Given the description of an element on the screen output the (x, y) to click on. 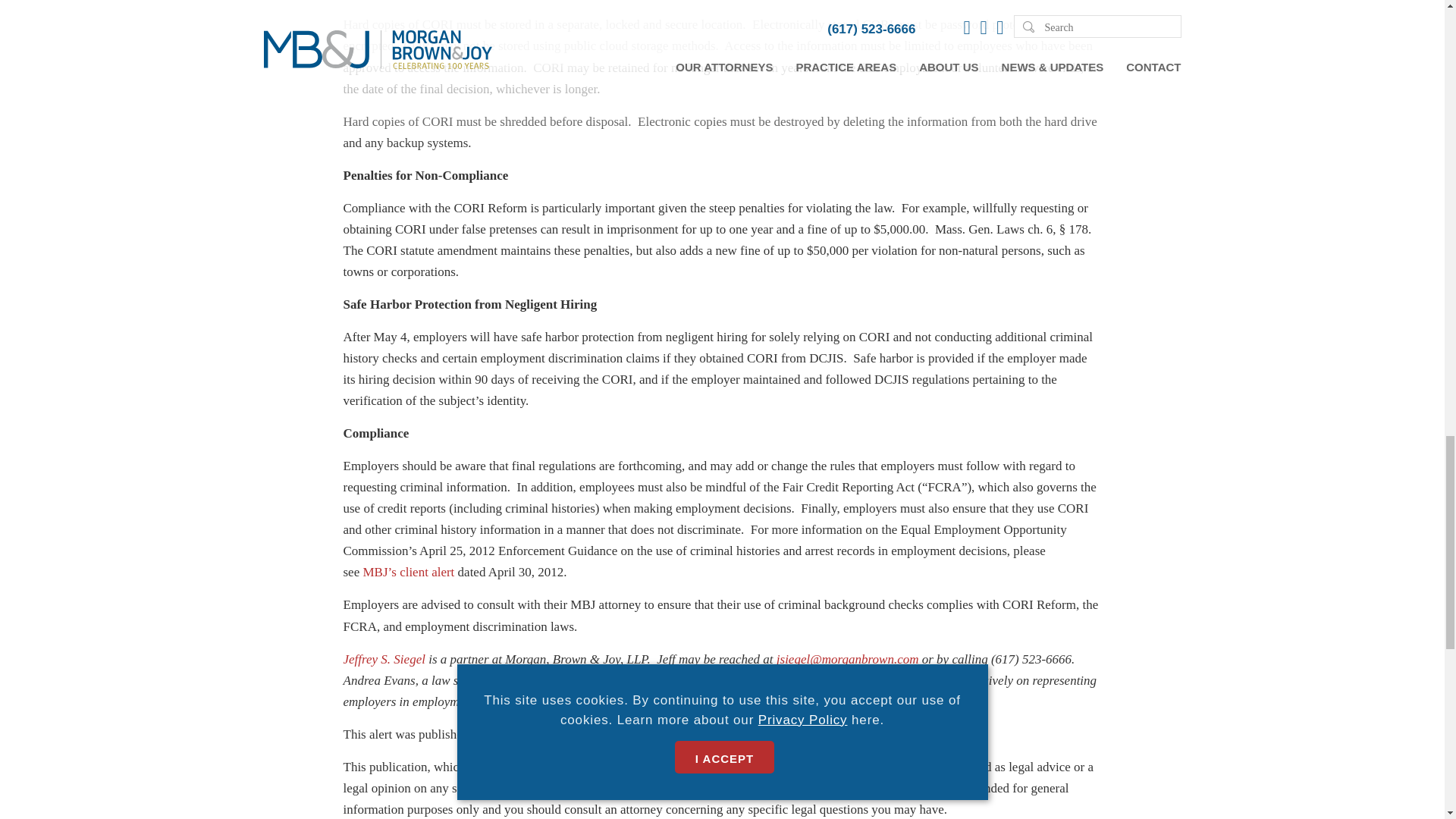
Jeffrey S. Siegel (383, 658)
